Given the description of an element on the screen output the (x, y) to click on. 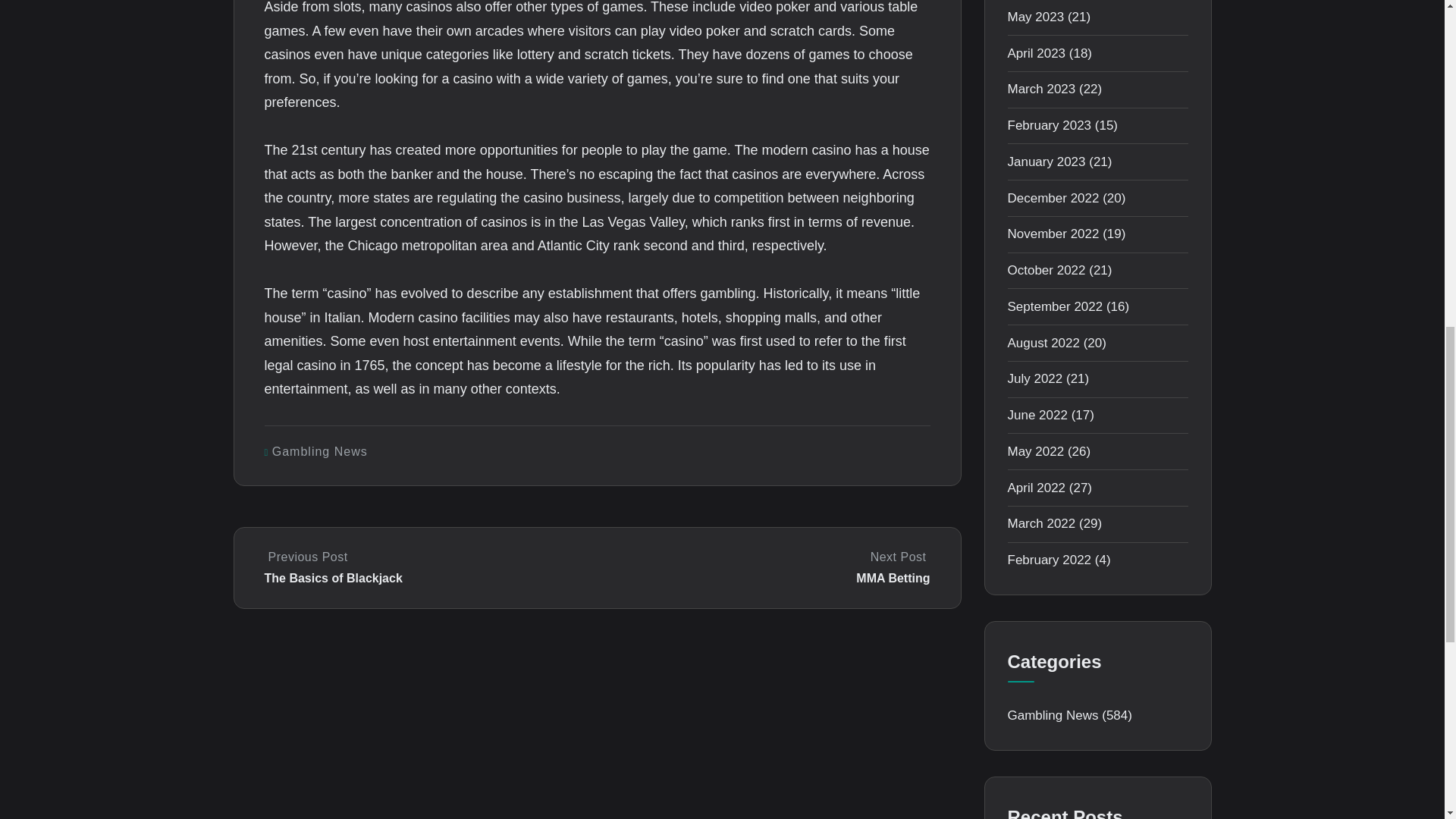
December 2022 (1053, 197)
June 2022 (1037, 414)
March 2023 (1041, 88)
July 2022 (1034, 378)
November 2022 (764, 567)
September 2022 (1053, 233)
April 2023 (1054, 306)
Gambling News (1036, 52)
October 2022 (320, 451)
January 2023 (1045, 269)
August 2022 (1045, 161)
February 2023 (1042, 342)
May 2023 (1048, 124)
